Given the description of an element on the screen output the (x, y) to click on. 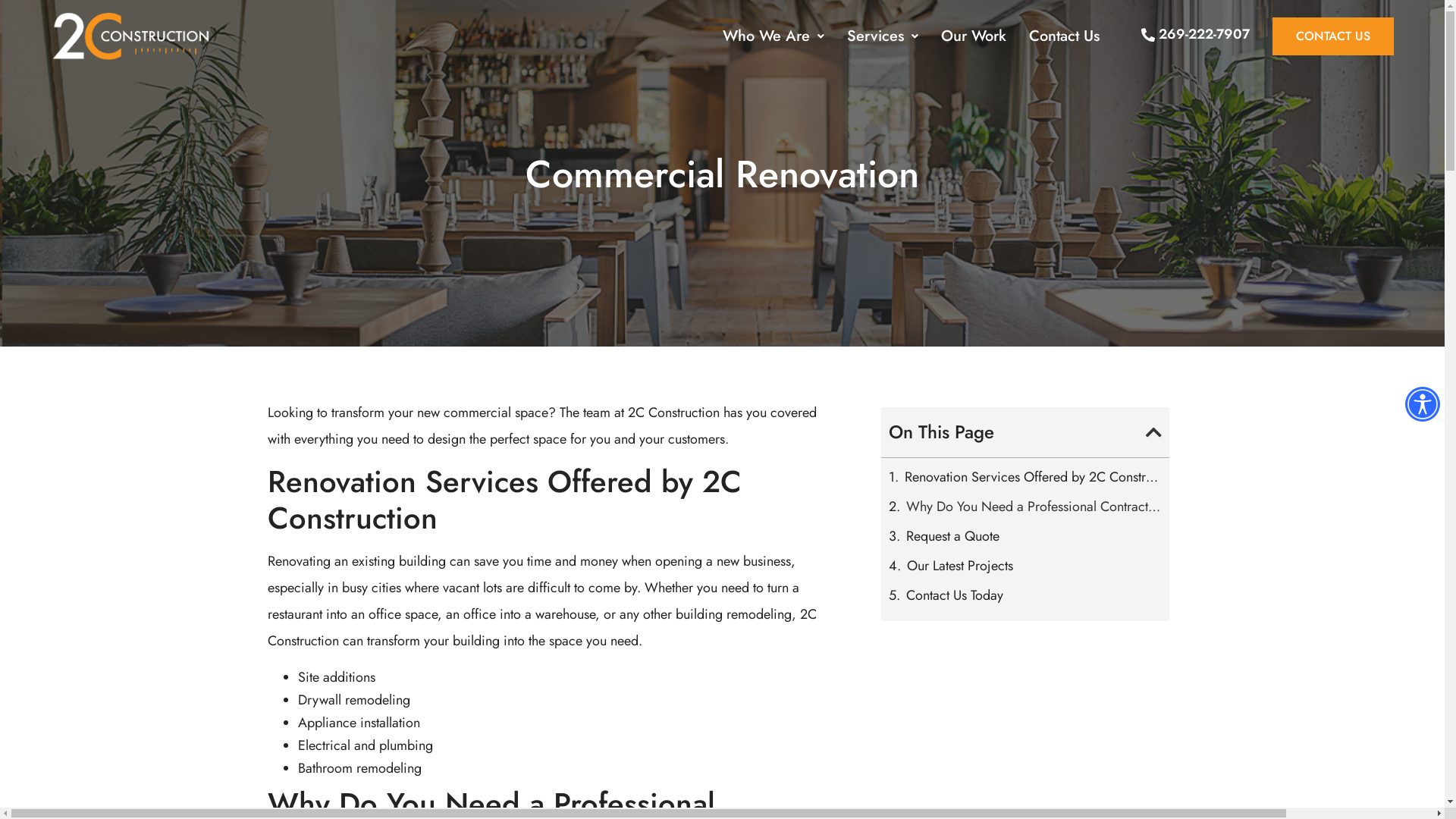
Renovation Services Offered by 2C Construction Element type: text (1032, 476)
Services Element type: text (882, 36)
Our Latest Projects Element type: text (959, 565)
Who We Are Element type: text (773, 36)
Contact Us Element type: text (1063, 36)
Request a Quote Element type: text (952, 535)
Our Work Element type: text (973, 36)
269-222-7907 Element type: text (1195, 34)
CONTACT US Element type: text (1332, 36)
Contact Us Today Element type: text (954, 594)
Why Do You Need a Professional Contractor? Element type: text (1033, 506)
